Given the description of an element on the screen output the (x, y) to click on. 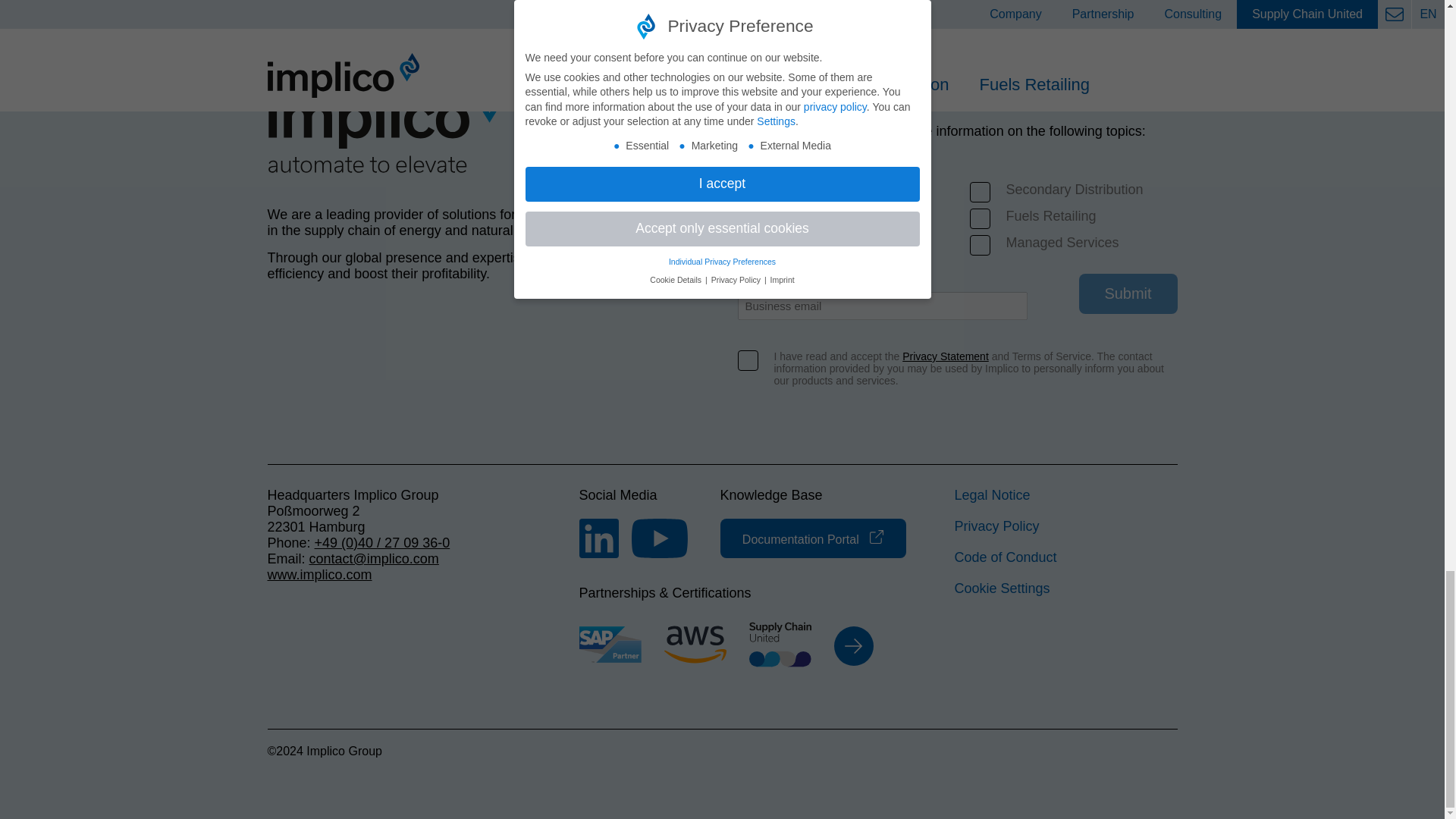
Posts by admin (74, 7)
